Given the description of an element on the screen output the (x, y) to click on. 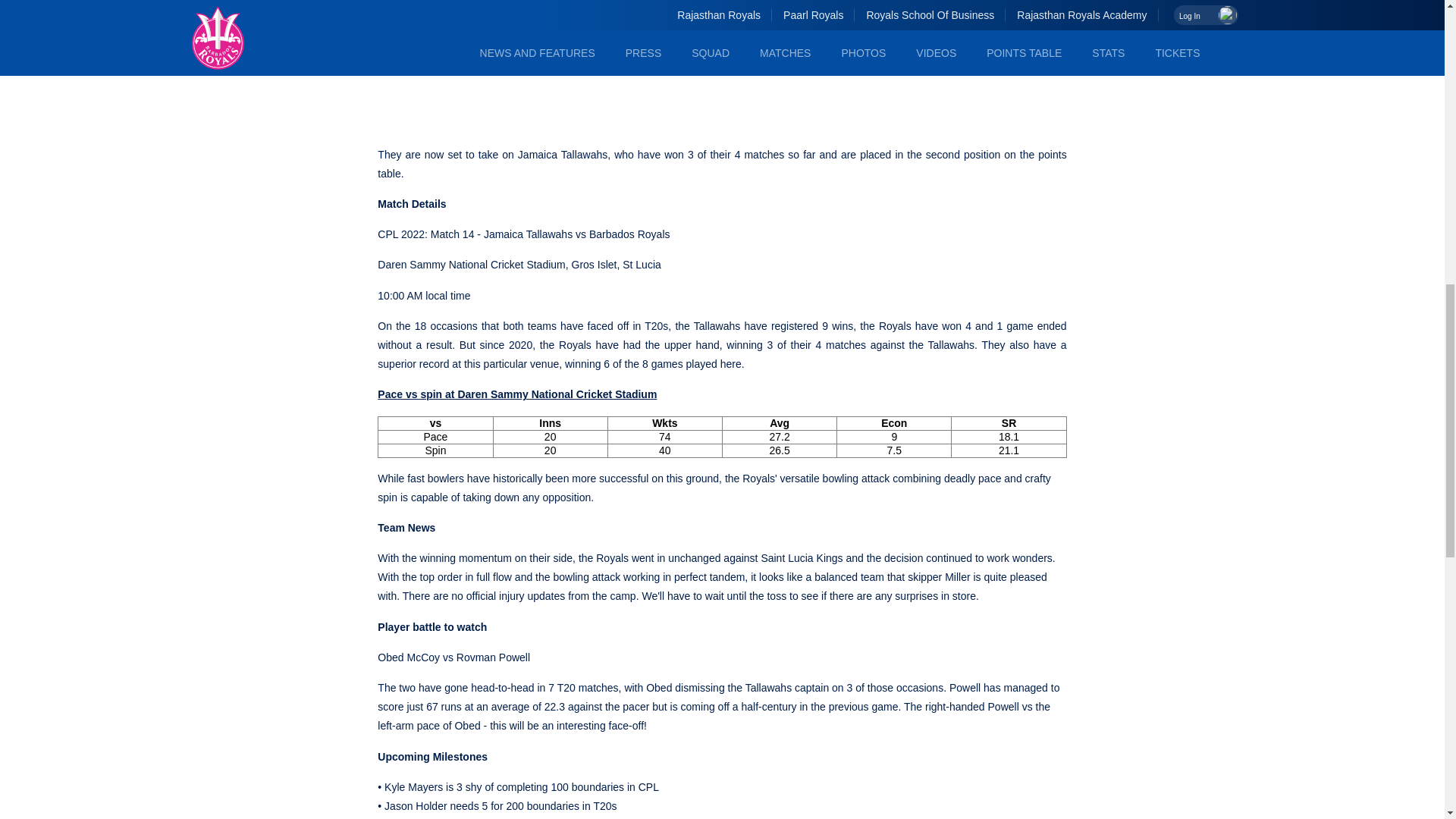
YouTube video player (589, 63)
